Given the description of an element on the screen output the (x, y) to click on. 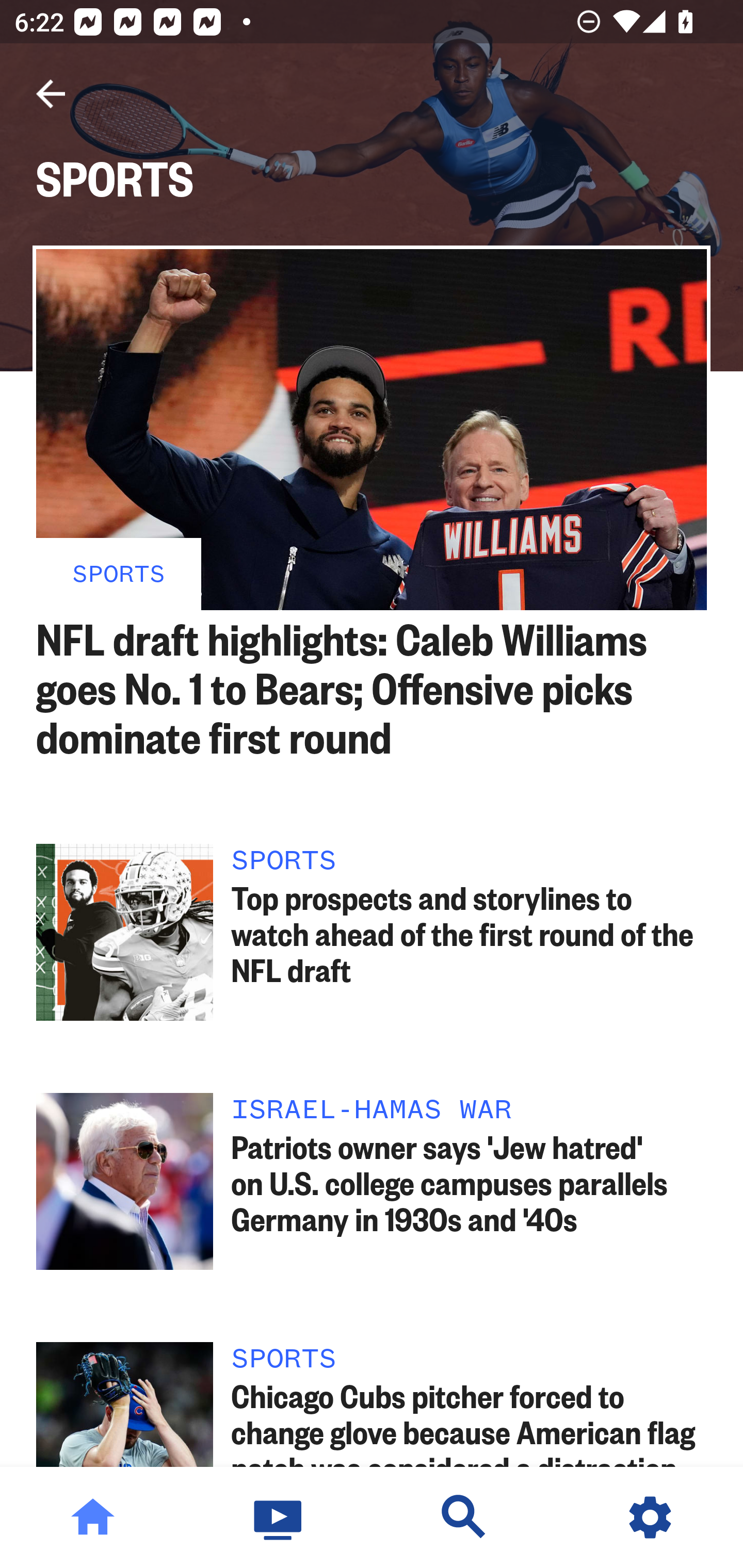
Navigate up (50, 93)
Watch (278, 1517)
Discover (464, 1517)
Settings (650, 1517)
